Given the description of an element on the screen output the (x, y) to click on. 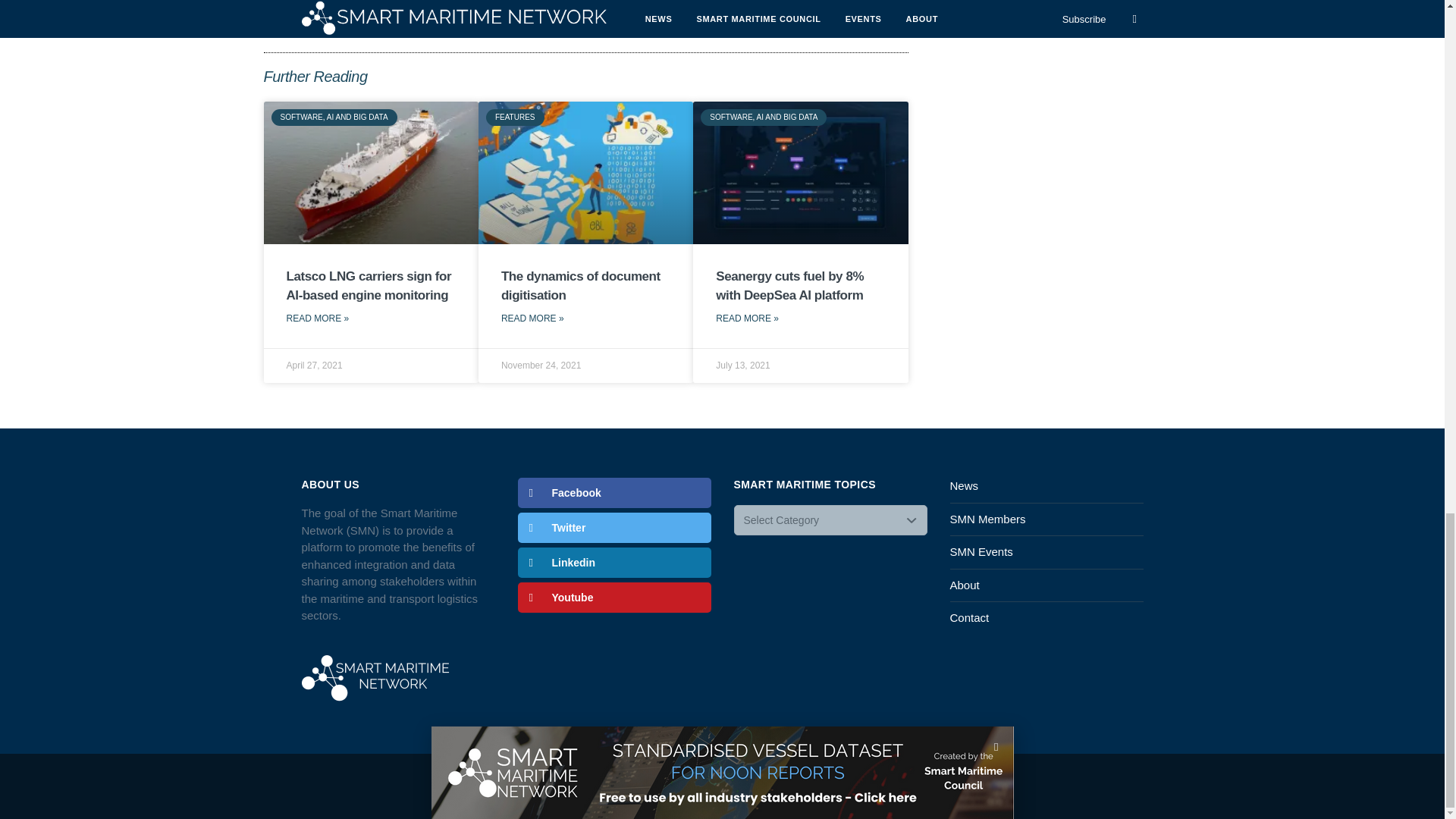
Facebook (613, 492)
Youtube (613, 597)
Linkedin (613, 562)
Twitter (613, 527)
